Given the description of an element on the screen output the (x, y) to click on. 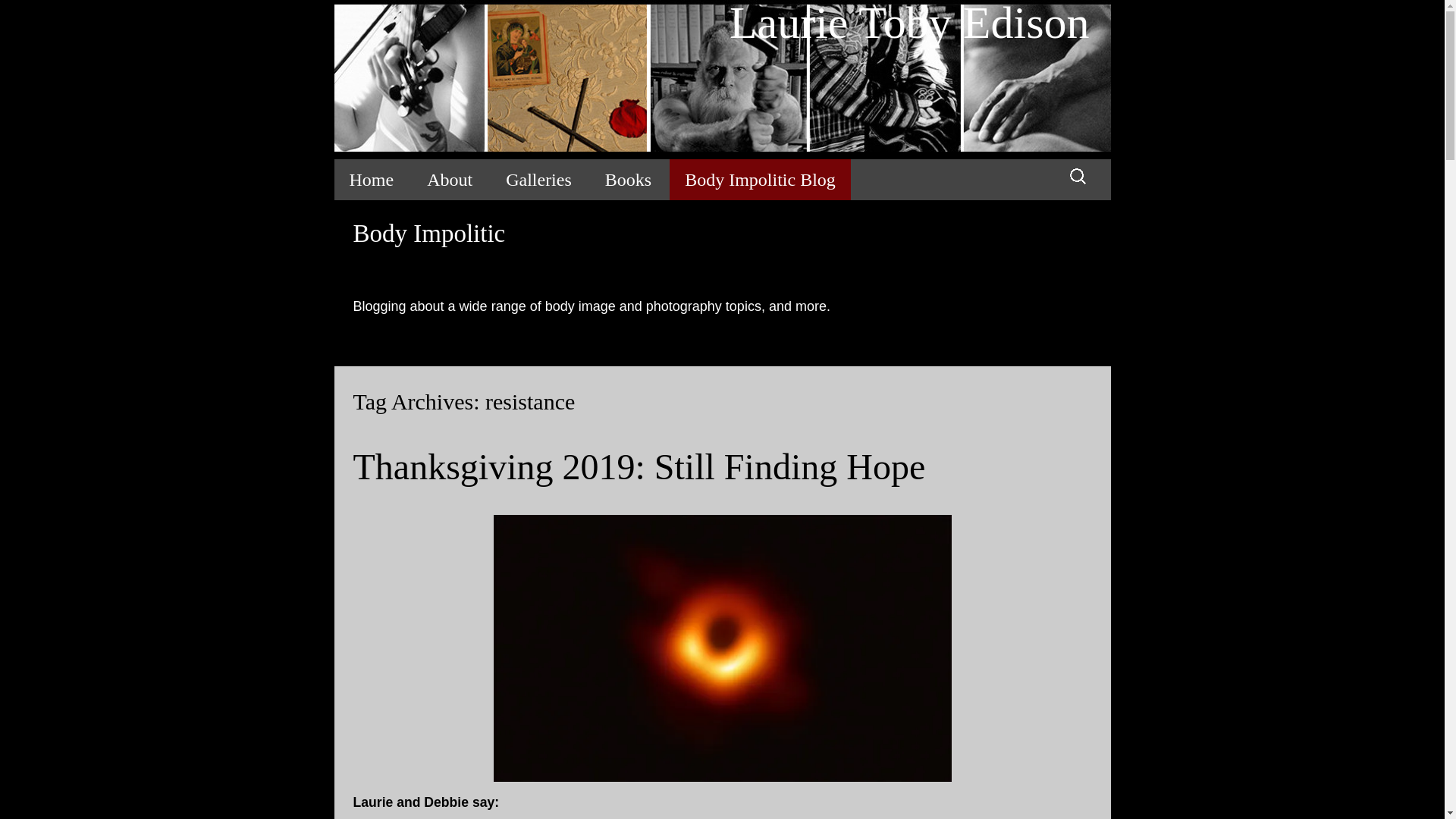
Galleries (538, 178)
Laurie Toby Edison (721, 79)
About (449, 178)
Thanksgiving 2019: Still Finding Hope (639, 466)
Search (18, 15)
Laurie Toby Edison (721, 79)
Body Impolitic Blog (759, 178)
Home (371, 178)
Books (627, 178)
